Given the description of an element on the screen output the (x, y) to click on. 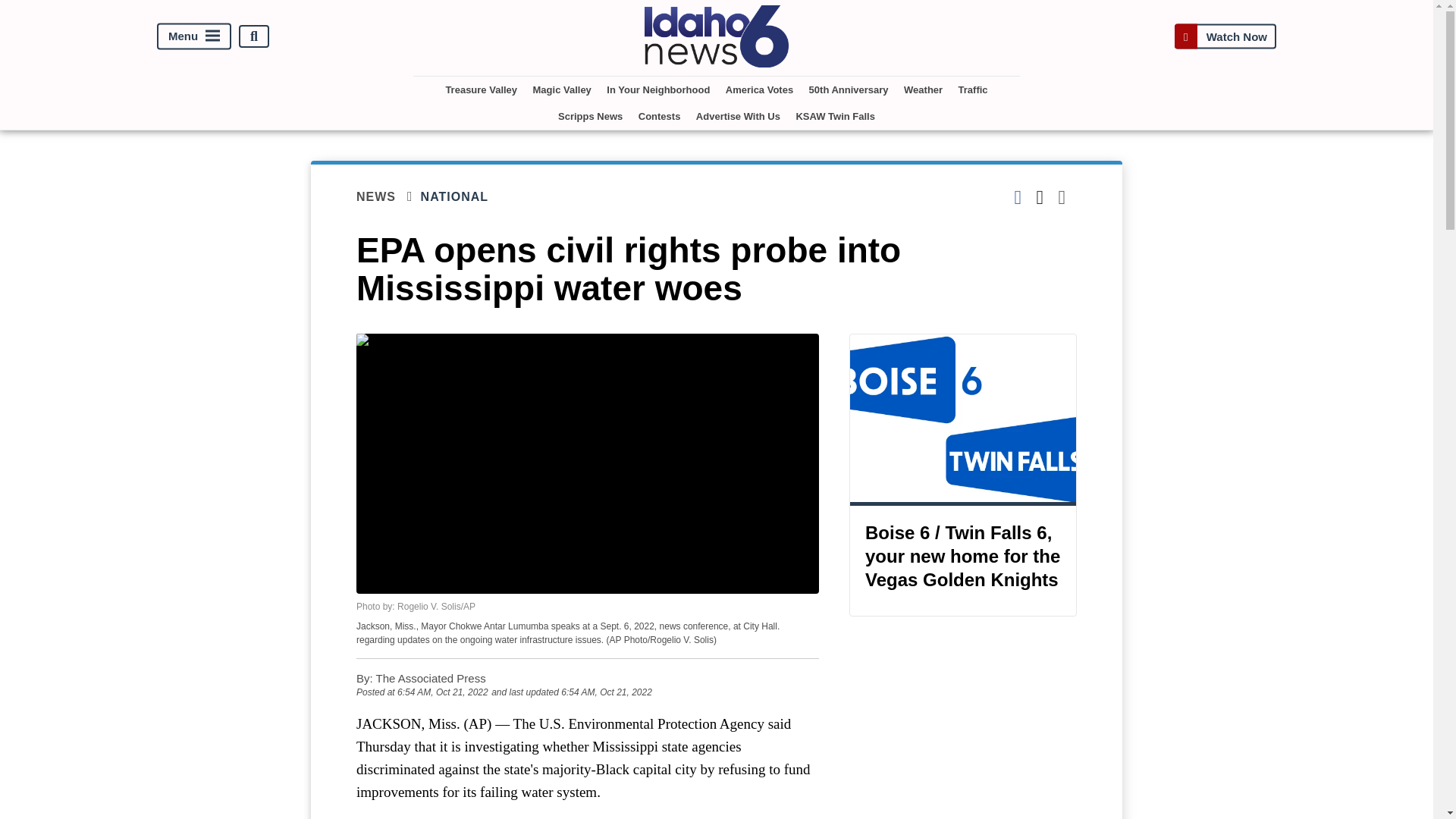
Menu (194, 36)
Watch Now (1224, 36)
